Given the description of an element on the screen output the (x, y) to click on. 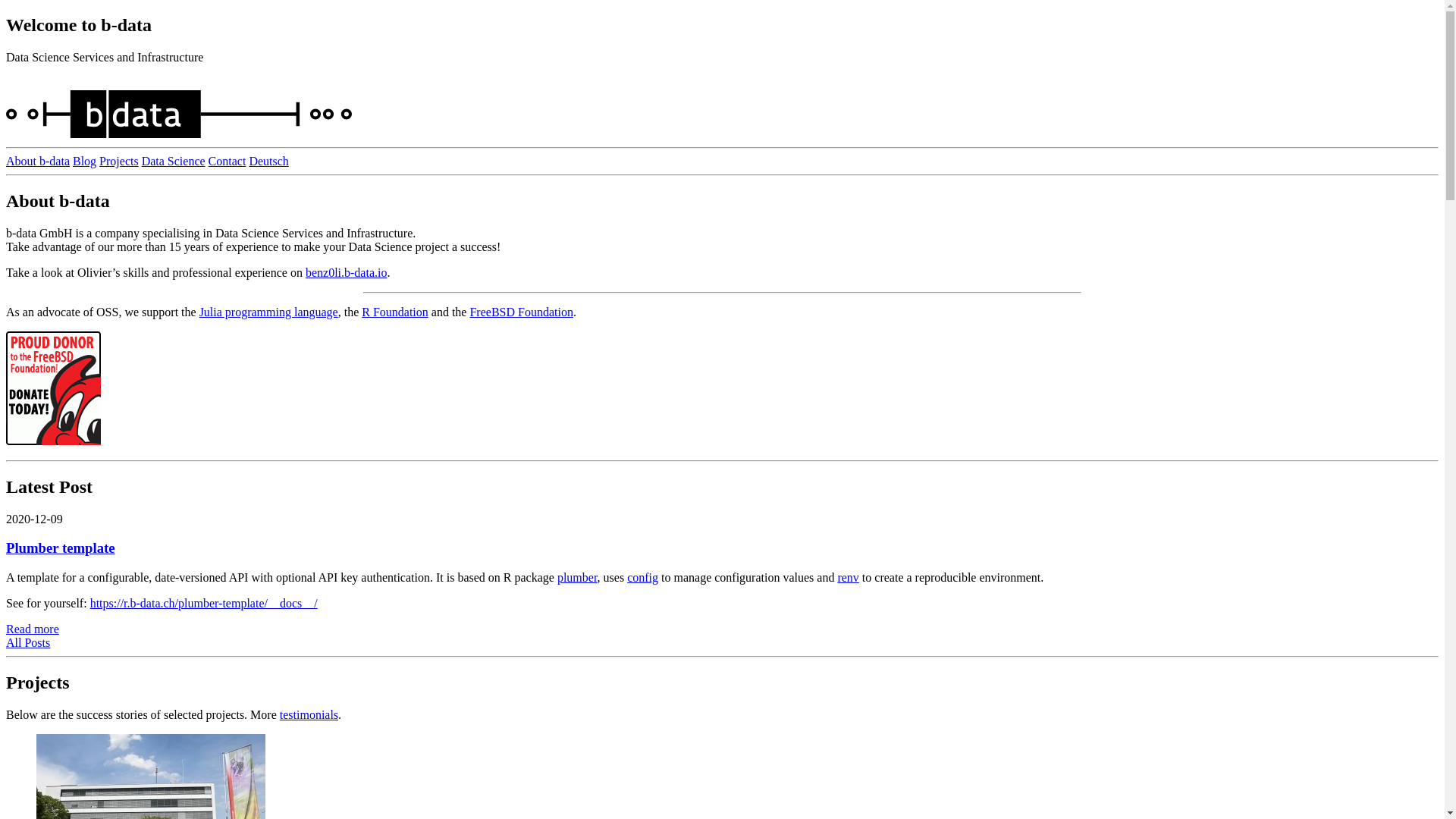
Projects Element type: text (118, 160)
Deutsch Element type: text (268, 160)
config Element type: text (642, 577)
R Foundation Element type: text (394, 311)
Julia programming language Element type: text (268, 311)
All Posts Element type: text (28, 642)
Plumber template Element type: text (60, 547)
testimonials Element type: text (308, 714)
Blog Element type: text (84, 160)
Data Science Element type: text (173, 160)
plumber Element type: text (577, 577)
Read more Element type: text (32, 628)
FreeBSD Foundation Element type: text (520, 311)
FreeBSD Foundation Donor Element type: hover (53, 388)
benz0li.b-data.io Element type: text (346, 272)
Contact Element type: text (227, 160)
renv Element type: text (847, 577)
https://r.b-data.ch/plumber-template/__docs__/ Element type: text (203, 602)
